Given the description of an element on the screen output the (x, y) to click on. 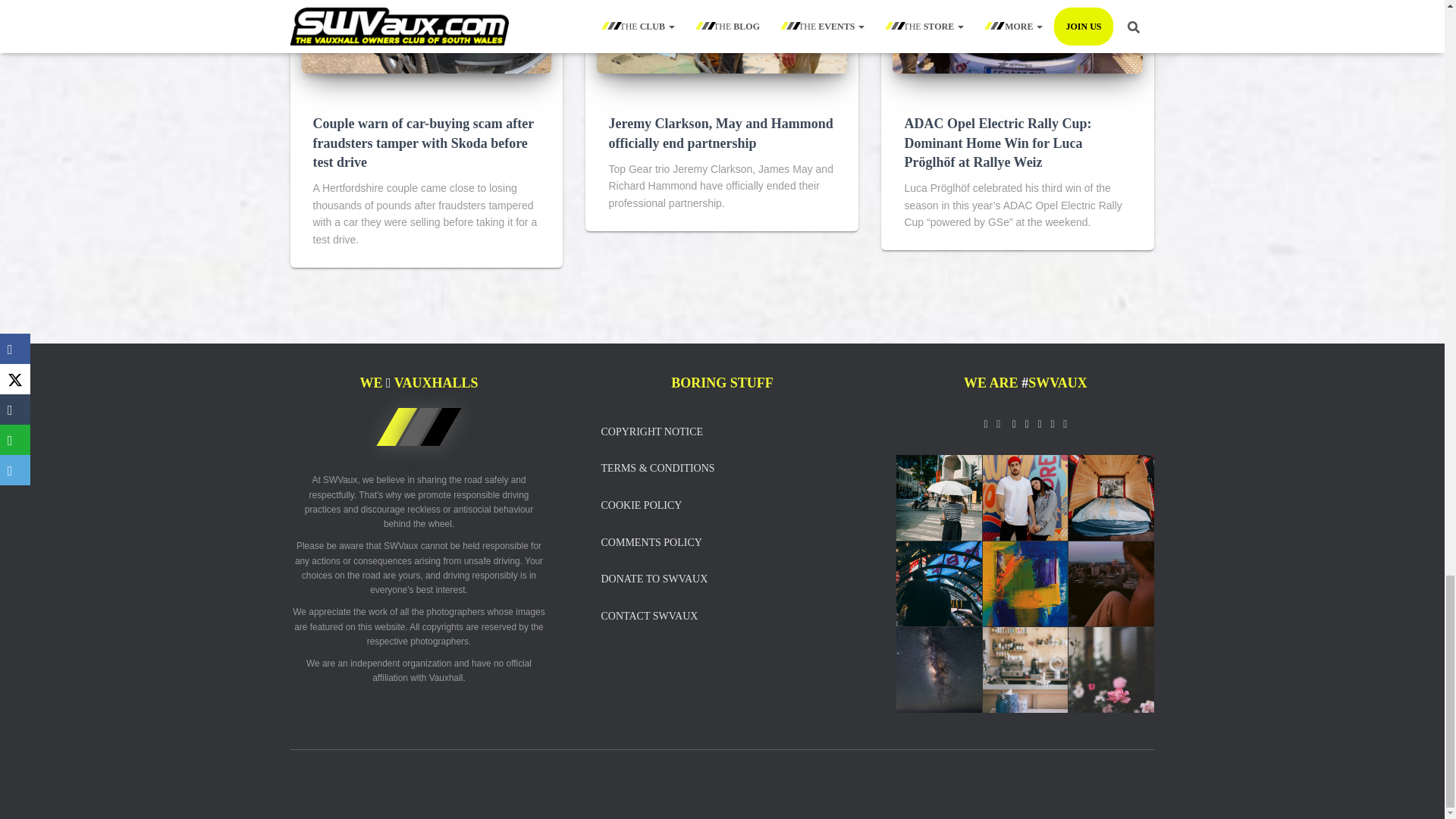
Jeremy Clarkson, May and Hammond officially end partnership (720, 132)
